Given the description of an element on the screen output the (x, y) to click on. 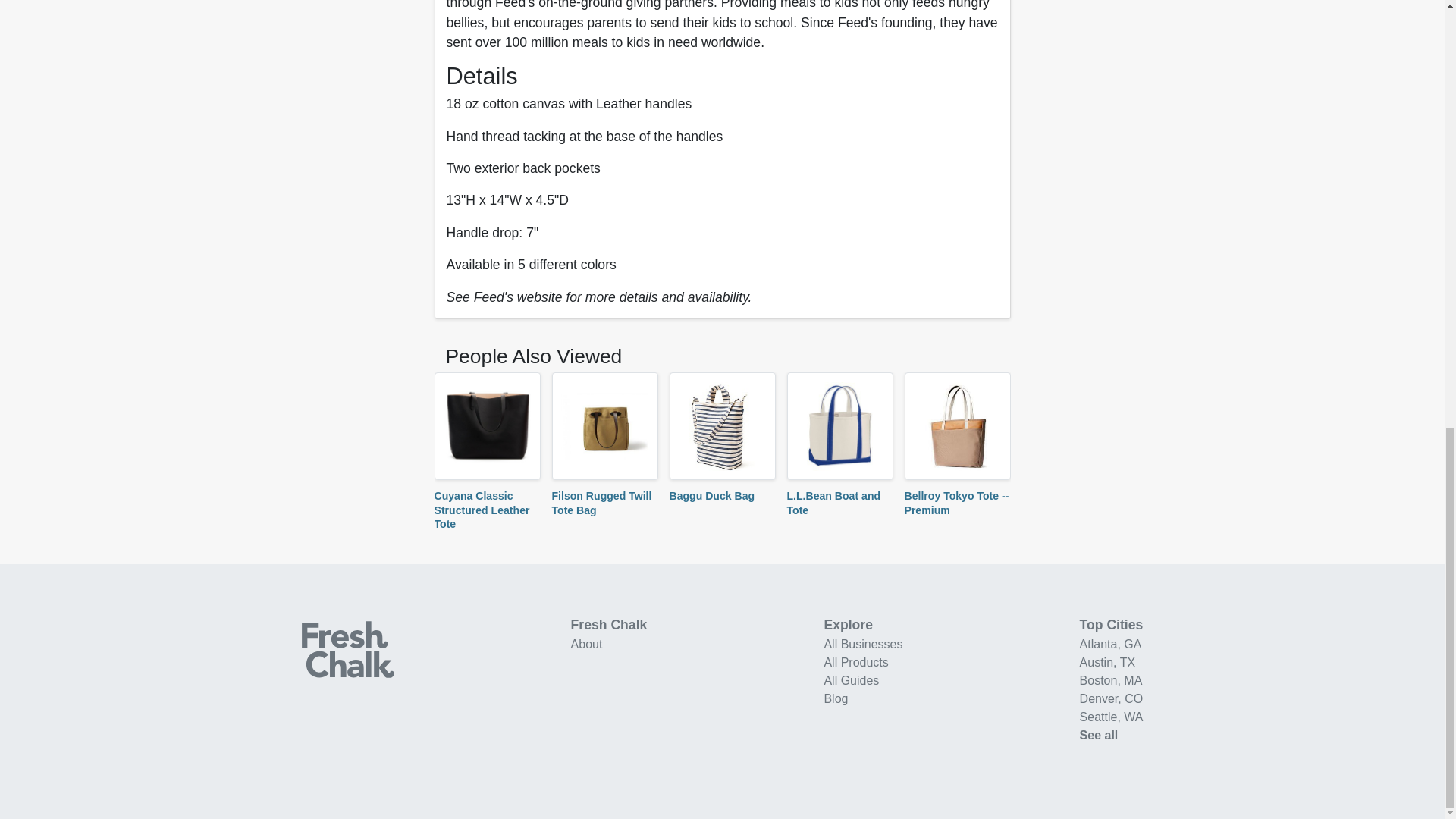
About (586, 644)
Boston, MA (1111, 680)
Atlanta, GA (1110, 644)
Filson Rugged Twill Tote Bag (601, 502)
All Guides (851, 680)
Blog (835, 698)
See all (1099, 735)
Seattle, WA (1111, 716)
Bellroy Tokyo Tote -- Premium (956, 502)
Denver, CO (1111, 698)
L.L.Bean Boat and Tote (833, 502)
All Products (856, 662)
All Businesses (863, 644)
Baggu Duck Bag (711, 495)
Austin, TX (1107, 662)
